Given the description of an element on the screen output the (x, y) to click on. 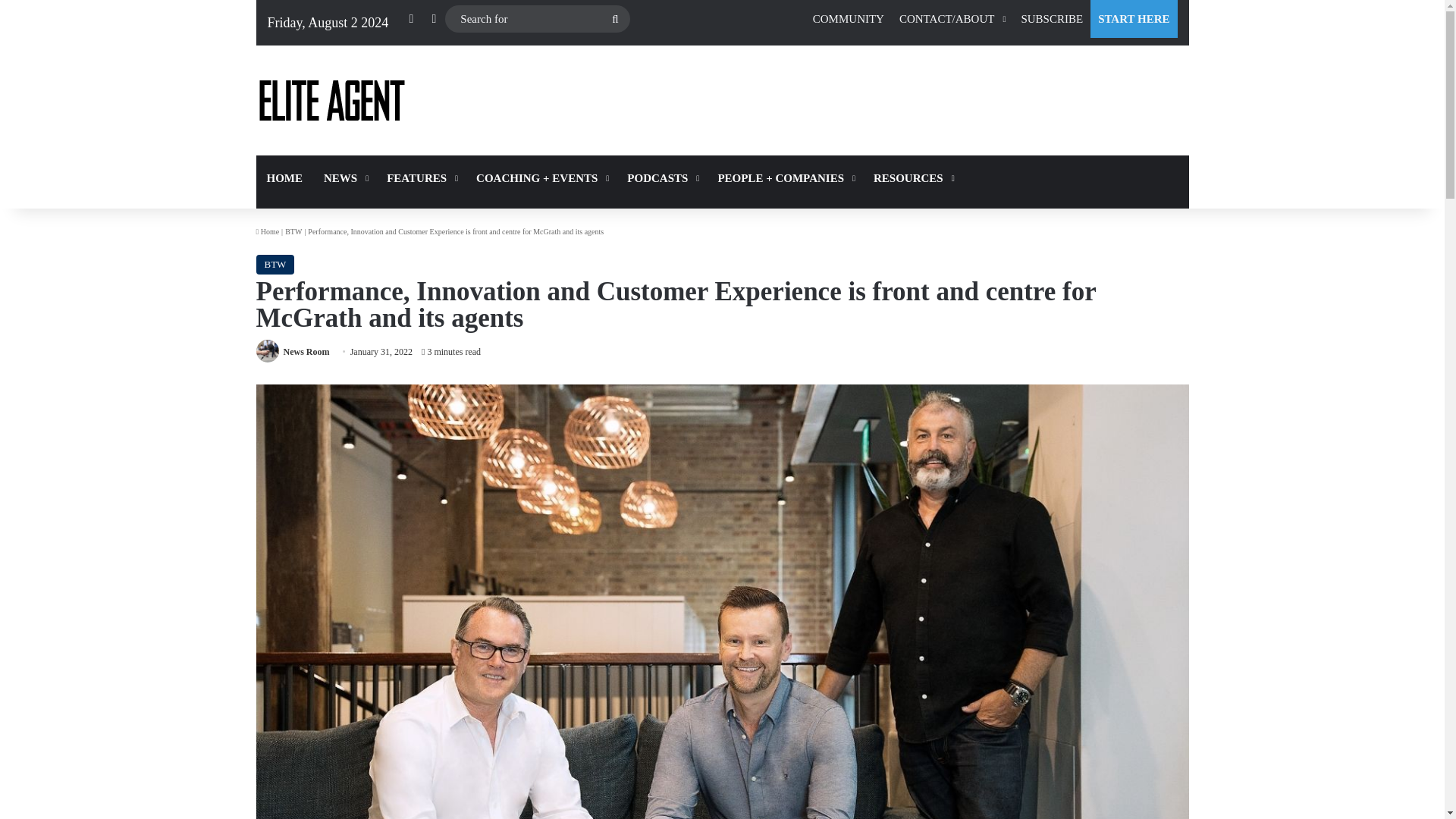
START HERE (1133, 18)
News Room (306, 351)
COMMUNITY (848, 18)
HOME (285, 177)
FEATURES (420, 177)
Elite Agent (331, 100)
NEWS (344, 177)
SUBSCRIBE (1051, 18)
Search for (537, 18)
